Given the description of an element on the screen output the (x, y) to click on. 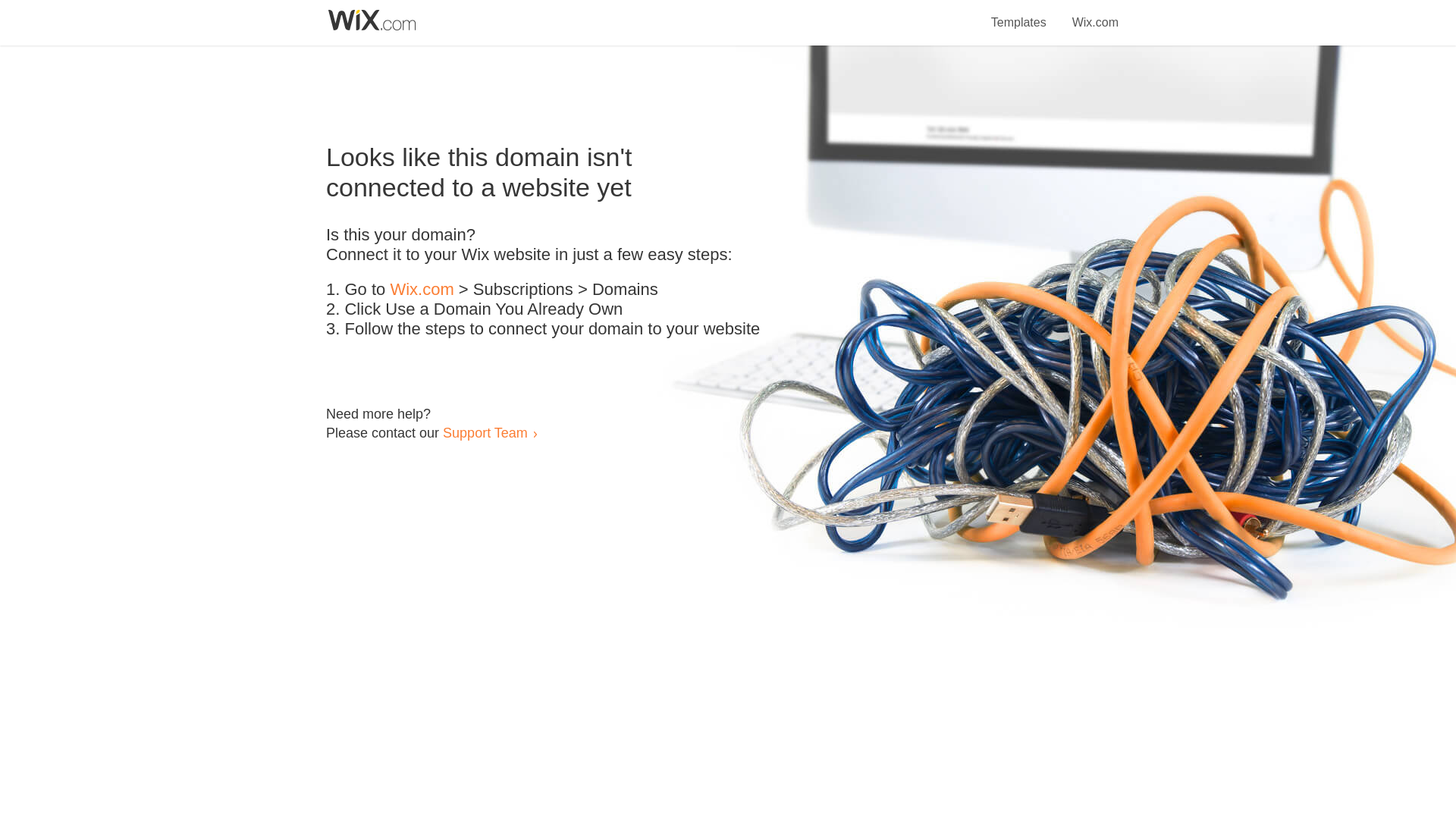
Support Team (484, 432)
Wix.com (421, 289)
Templates (1018, 14)
Wix.com (1095, 14)
